Given the description of an element on the screen output the (x, y) to click on. 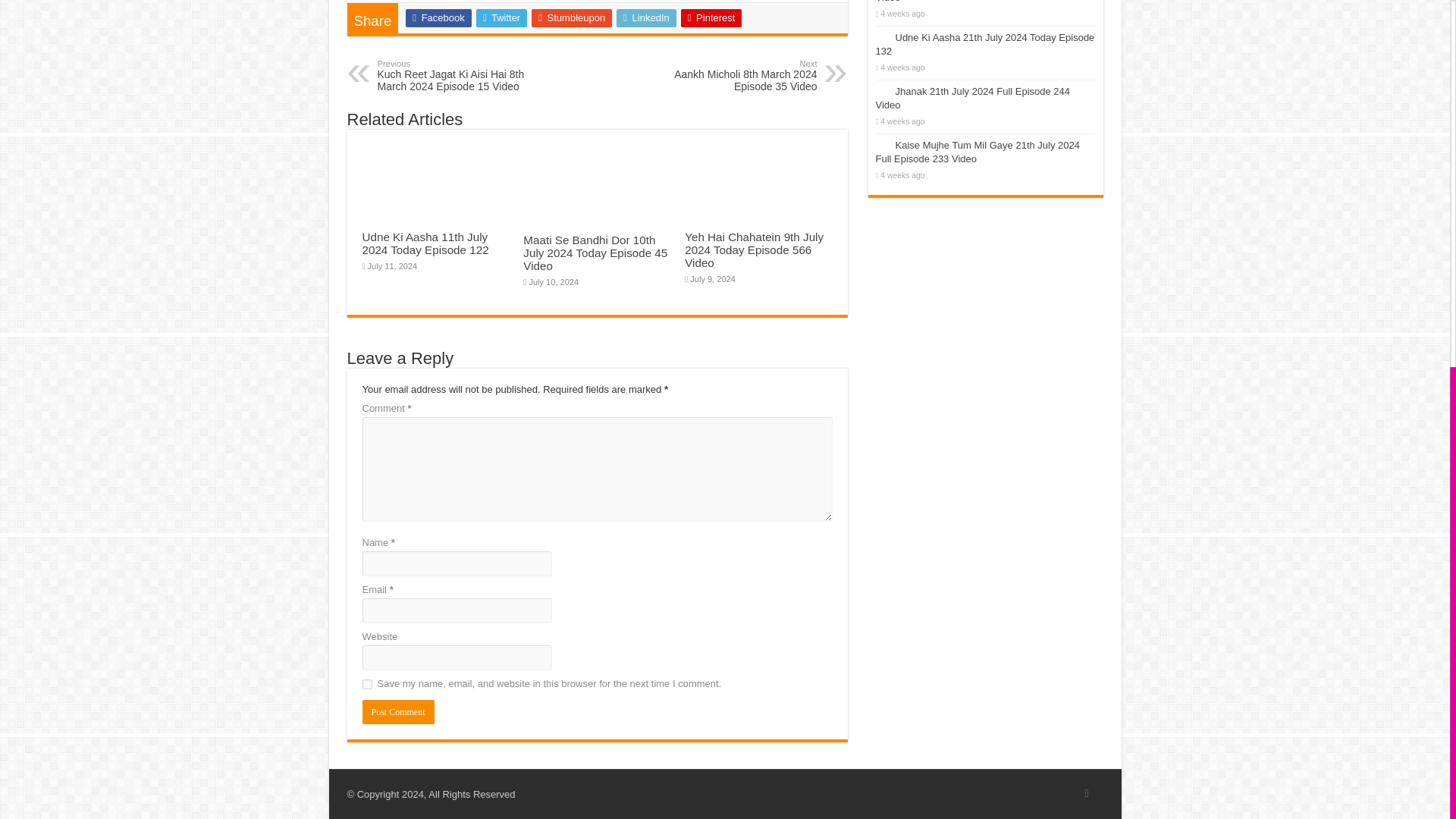
Udne Ki Aasha 11th July 2024 Today Episode 122 (425, 243)
yes (367, 684)
Maati Se Bandhi Dor 10th July 2024 Today Episode 45 Video (594, 252)
Yeh Hai Chahatein 9th July 2024 Today Episode 566 Video (754, 249)
Facebook (438, 18)
Scroll To Top (1427, 214)
Post Comment (397, 711)
Post Comment (738, 75)
LinkedIn (397, 711)
